Given the description of an element on the screen output the (x, y) to click on. 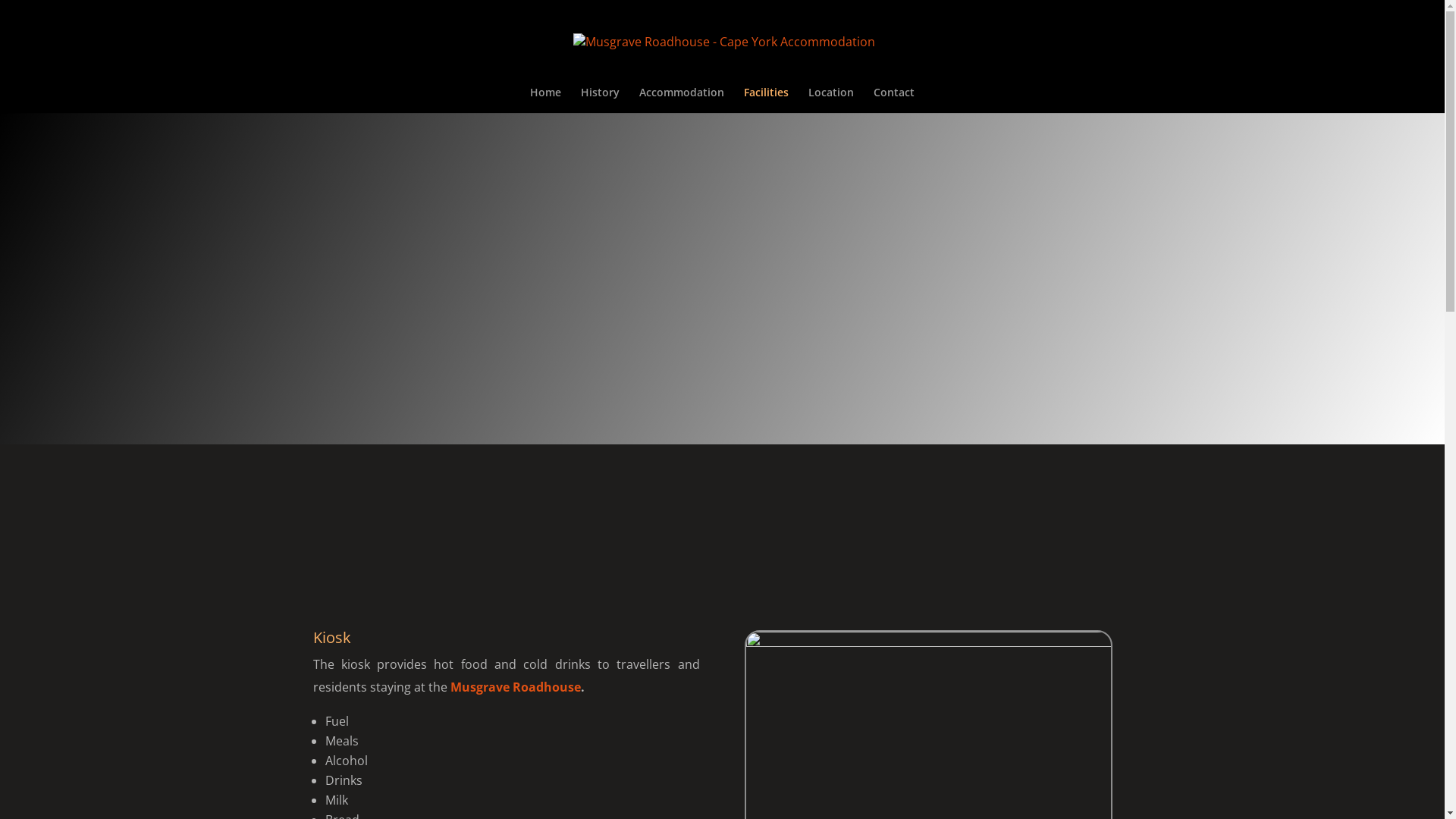
Contact Element type: text (893, 99)
Location Element type: text (830, 99)
Home Element type: text (545, 99)
Musgrave Roadhouse Element type: text (515, 686)
History Element type: text (599, 99)
Facilities Element type: text (765, 99)
Accommodation Element type: text (681, 99)
